Given the description of an element on the screen output the (x, y) to click on. 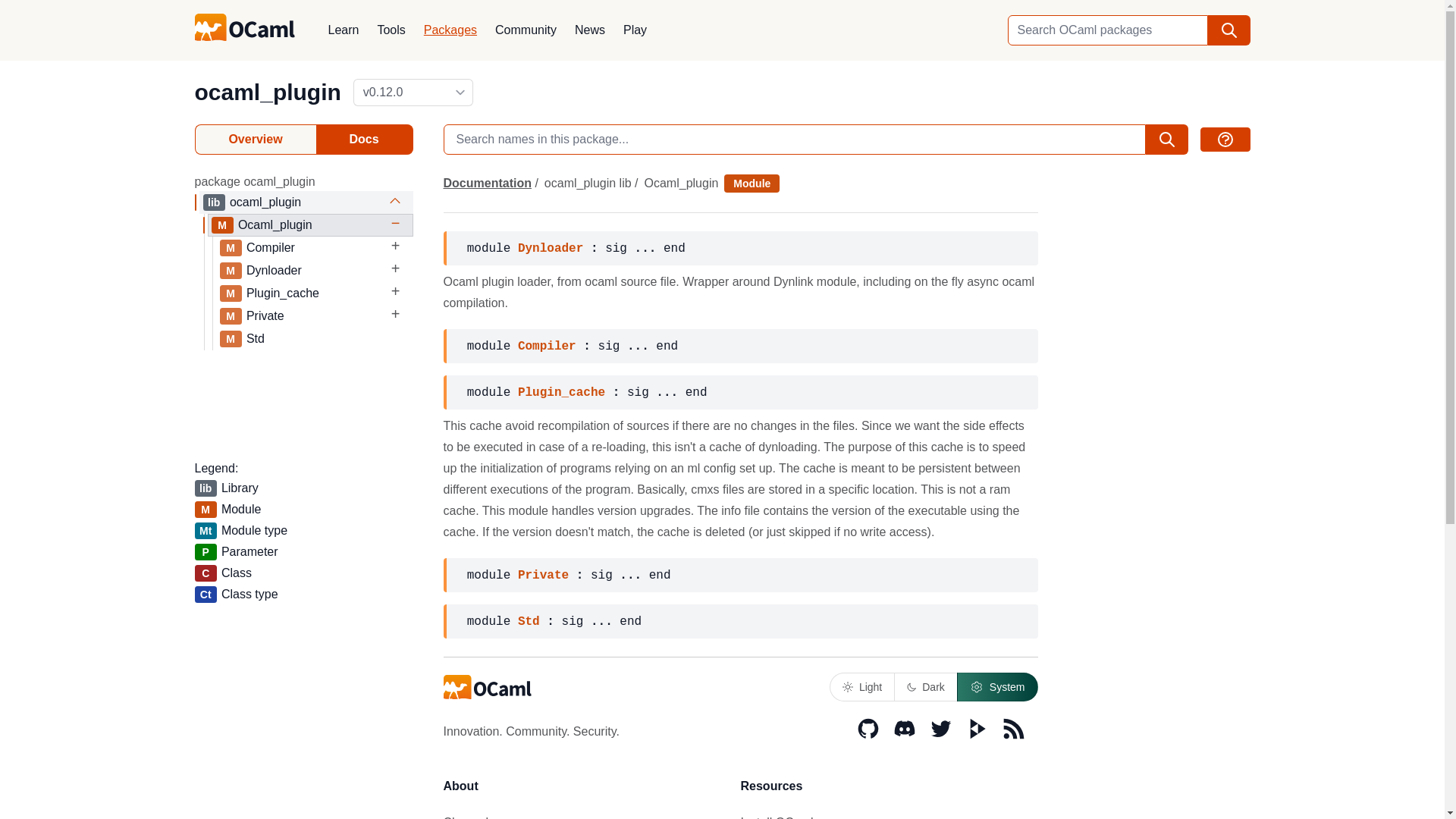
Community (526, 30)
Tools (390, 30)
Docs (364, 139)
Module Compiler (315, 247)
Packages (450, 30)
Compiler (315, 247)
News (590, 30)
Overview (254, 139)
Module Dynloader (315, 270)
Learn (343, 30)
